Given the description of an element on the screen output the (x, y) to click on. 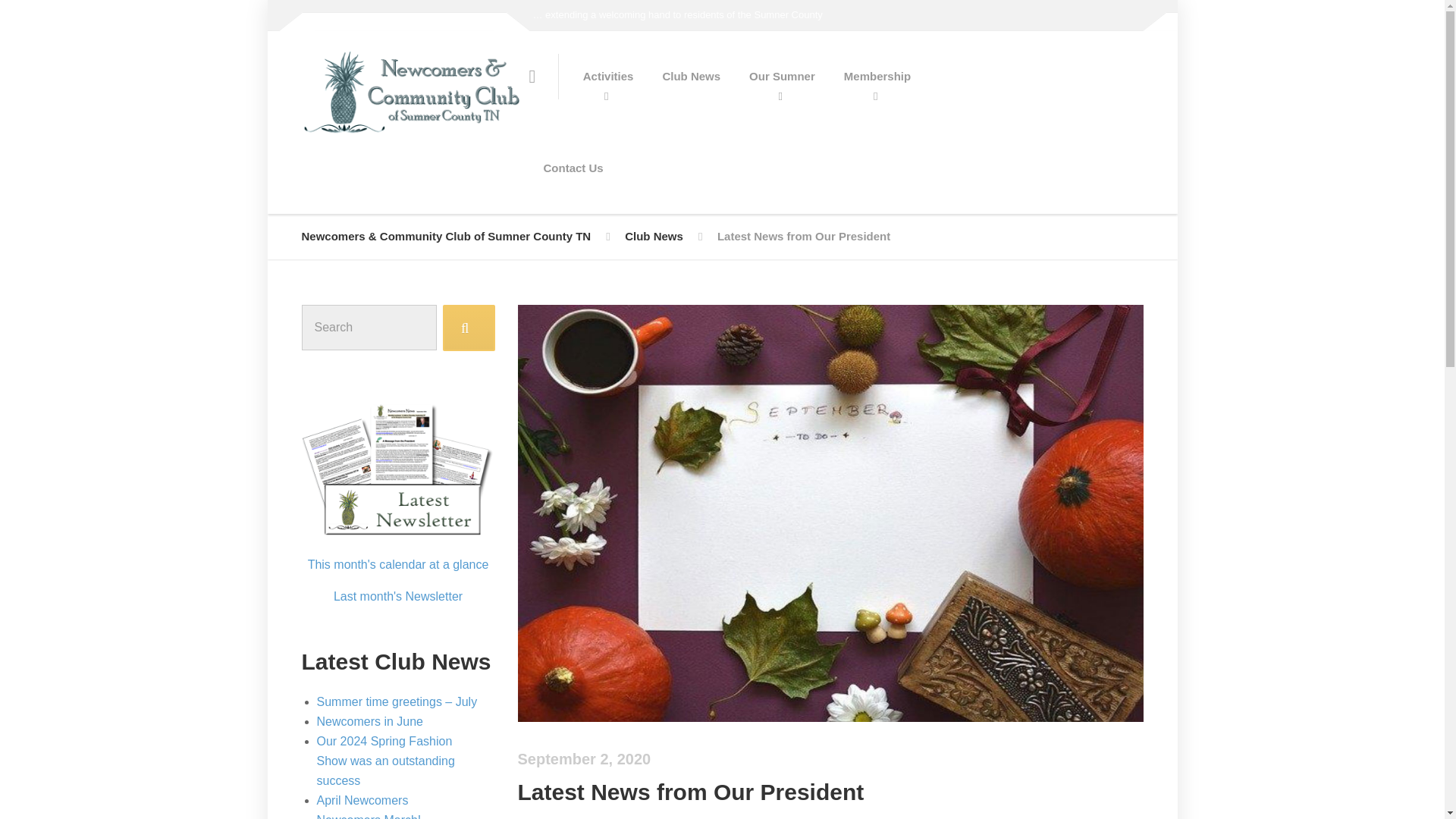
This month's calendar at a glance (398, 563)
Contact Us (573, 167)
Club News (653, 236)
Go to the Club News Category archives. (653, 236)
Club News (691, 76)
Our 2024 Spring Fashion Show was an outstanding success (385, 760)
April Newcomers (363, 799)
Newcomers in June (370, 721)
Our Sumner (782, 76)
Last month's Newsletter (398, 595)
Newcomers March! (369, 816)
Membership (876, 76)
